Given the description of an element on the screen output the (x, y) to click on. 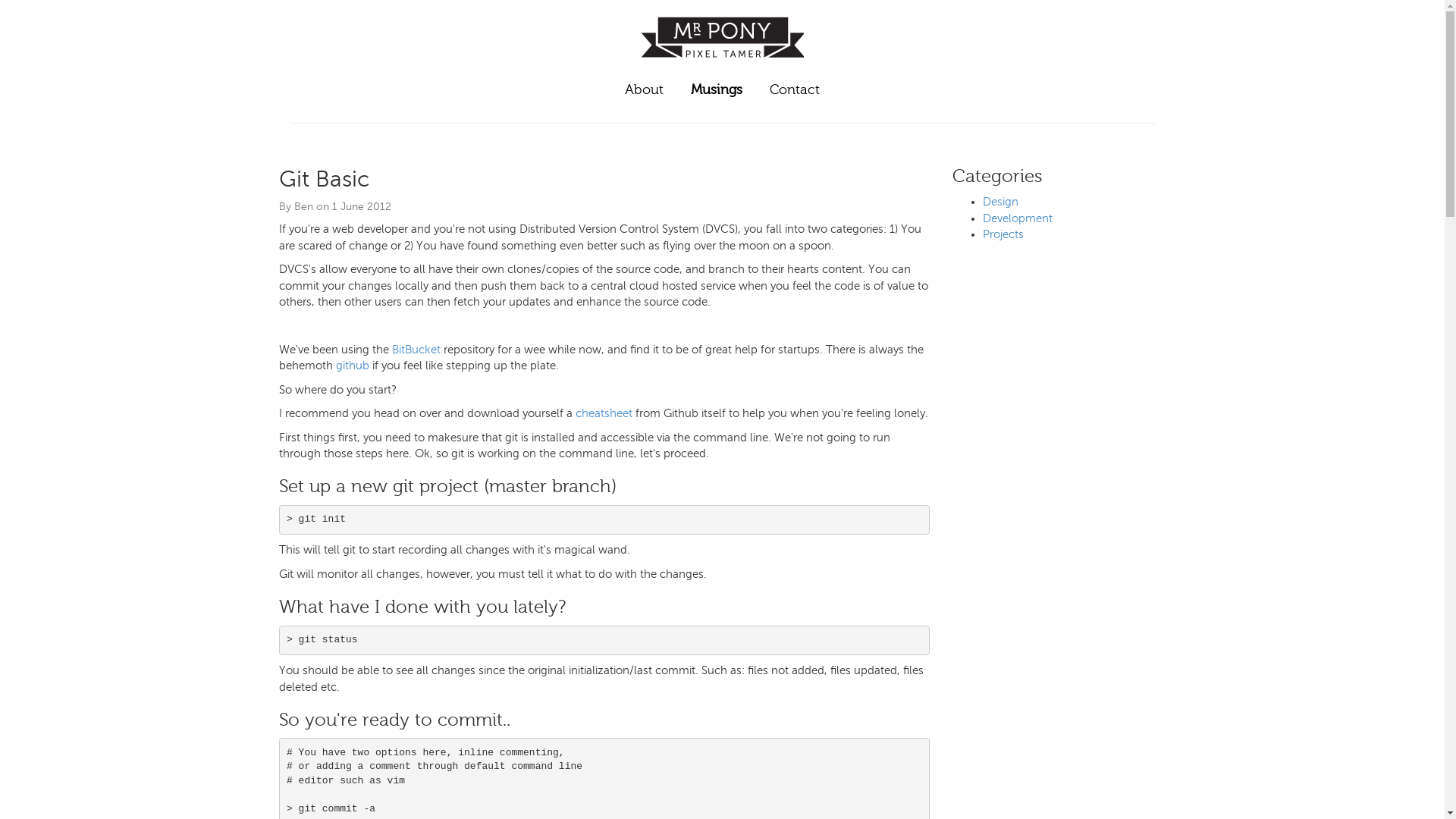
Mr Pony Element type: text (722, 64)
Development Element type: text (1017, 218)
Design Element type: text (1000, 201)
Projects Element type: text (1002, 234)
Contact Element type: text (794, 89)
github Element type: text (351, 365)
cheatsheet Element type: text (602, 413)
About Element type: text (643, 89)
BitBucket Element type: text (415, 349)
Musings Element type: text (716, 89)
